Given the description of an element on the screen output the (x, y) to click on. 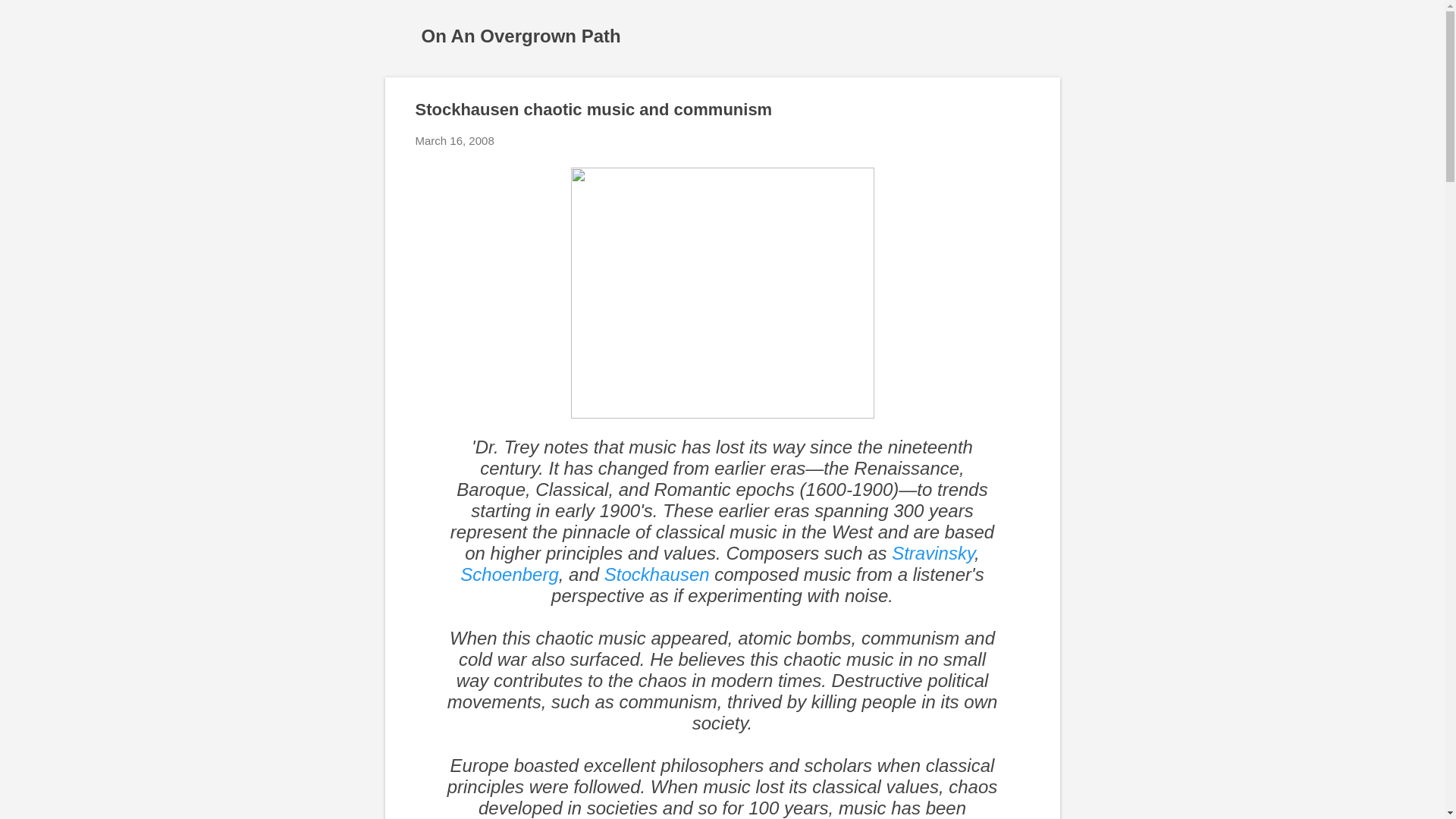
permanent link (454, 140)
On An Overgrown Path (521, 35)
Schoenberg (508, 574)
Search (29, 18)
Stockhausen (657, 574)
March 16, 2008 (454, 140)
Stravinsky (932, 552)
